Given the description of an element on the screen output the (x, y) to click on. 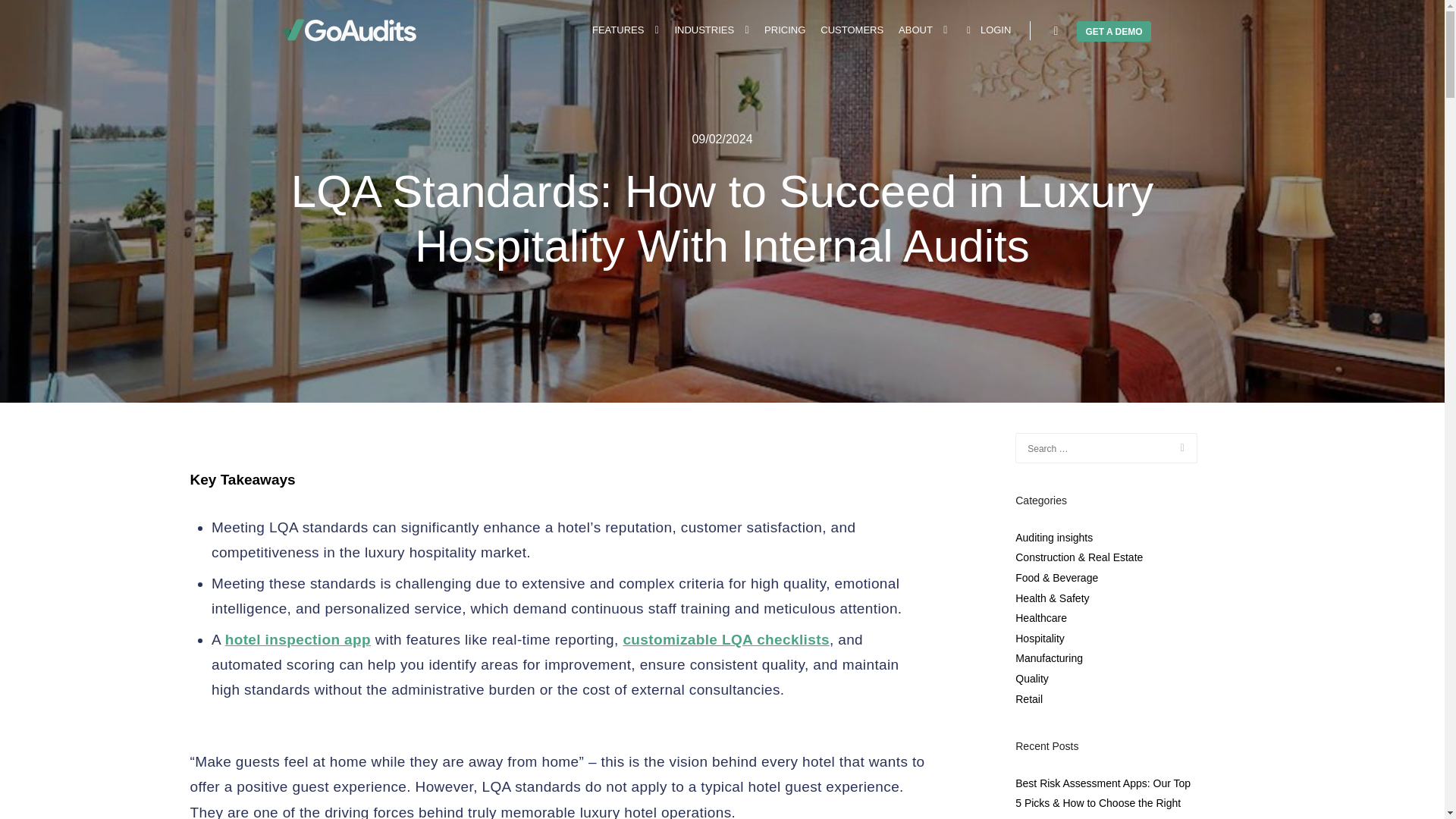
CUSTOMERS (851, 30)
Search (1055, 30)
GoAudits (348, 30)
PRICING (784, 30)
LOGIN (986, 30)
Search (1055, 30)
